Given the description of an element on the screen output the (x, y) to click on. 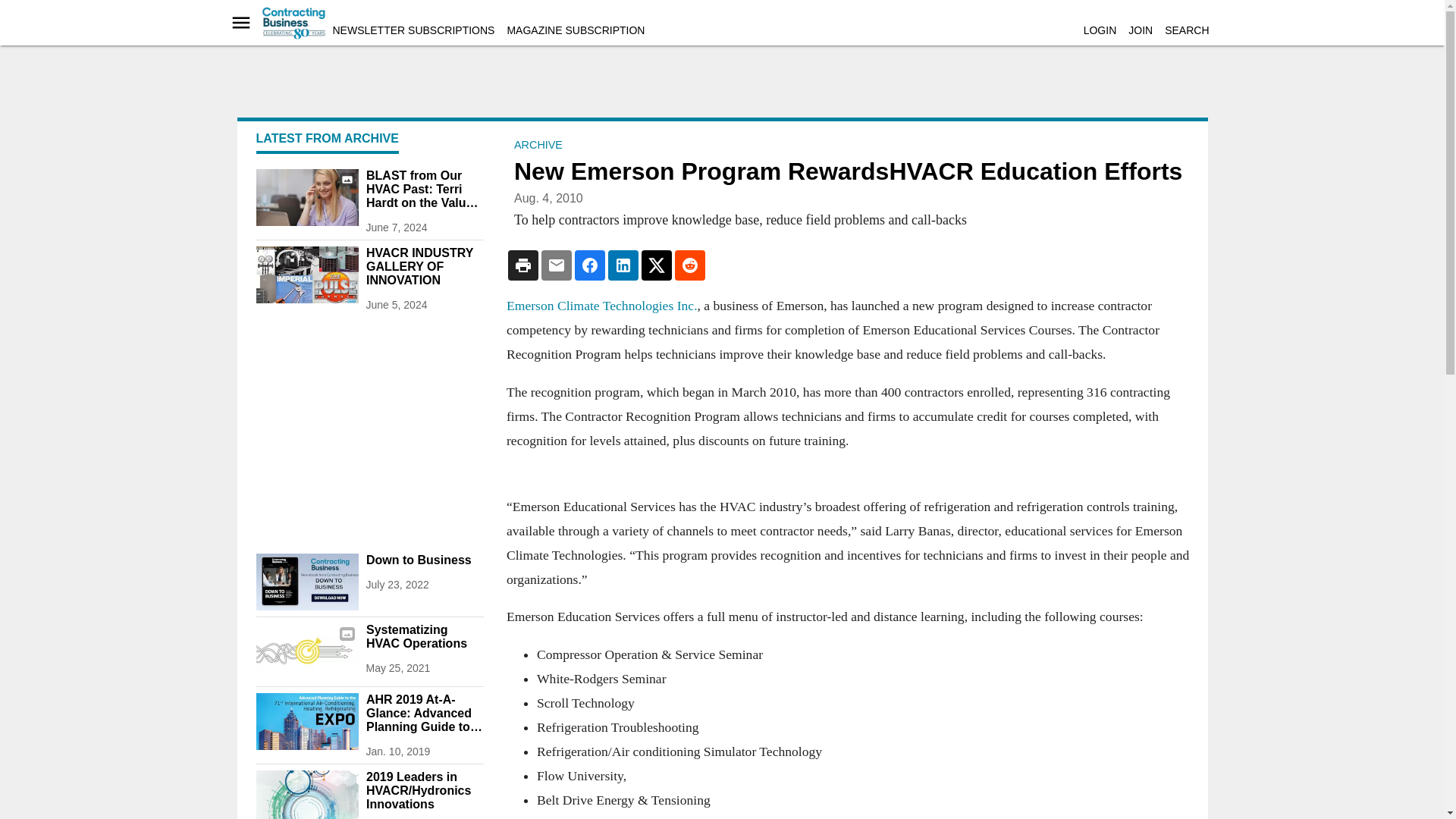
C Be Book Web Ads Ps Ds Vert 1200x628 (307, 581)
LOGIN (1099, 30)
SEARCH (1186, 30)
NEWSLETTER SUBSCRIPTIONS (413, 30)
HVACR INDUSTRY GALLERY OF INNOVATION (424, 266)
Systematizing (307, 651)
MAGAZINE SUBSCRIPTION (575, 30)
print (307, 794)
print (307, 721)
